Given the description of an element on the screen output the (x, y) to click on. 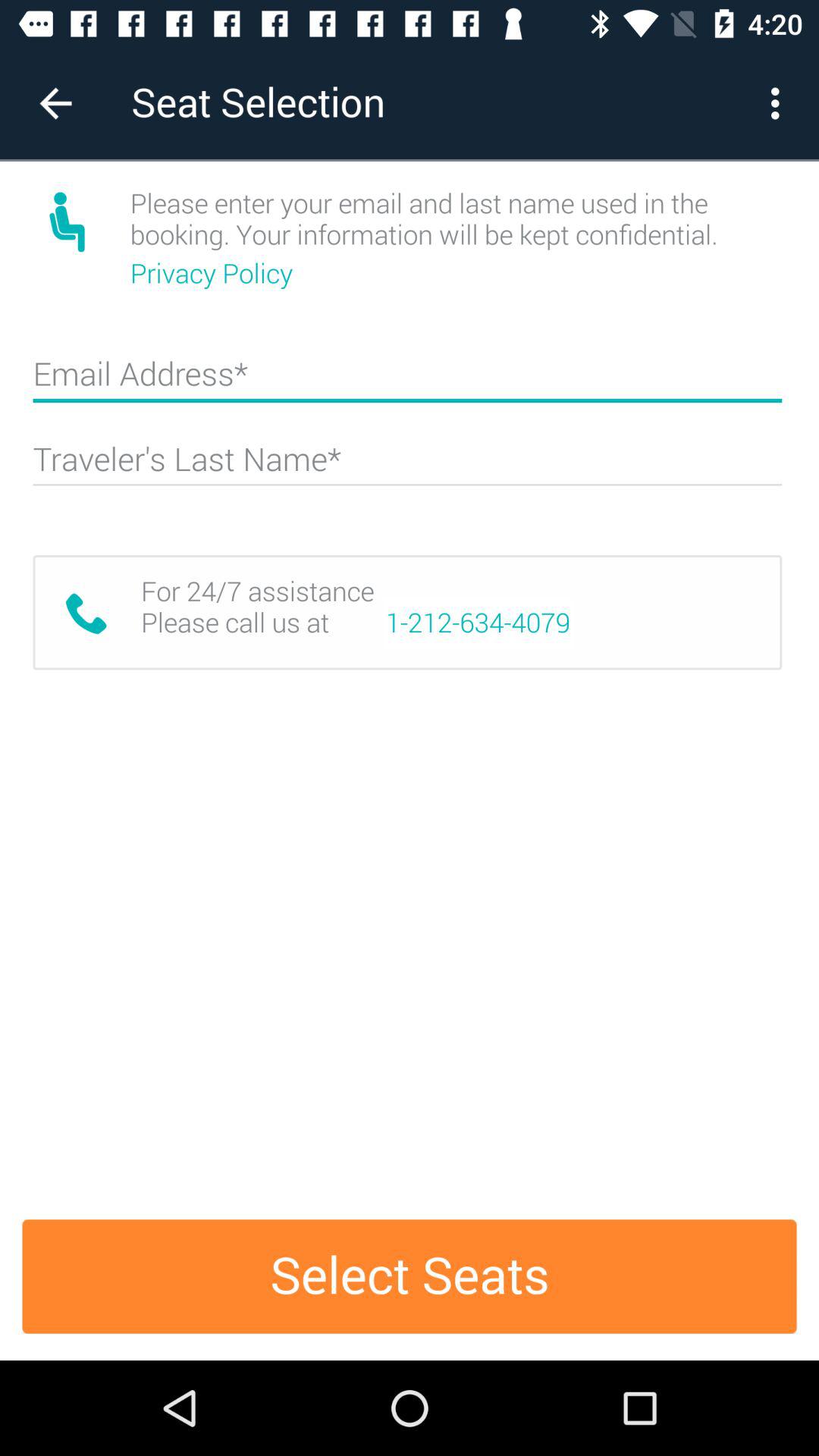
open the item next to seat selection (55, 103)
